Given the description of an element on the screen output the (x, y) to click on. 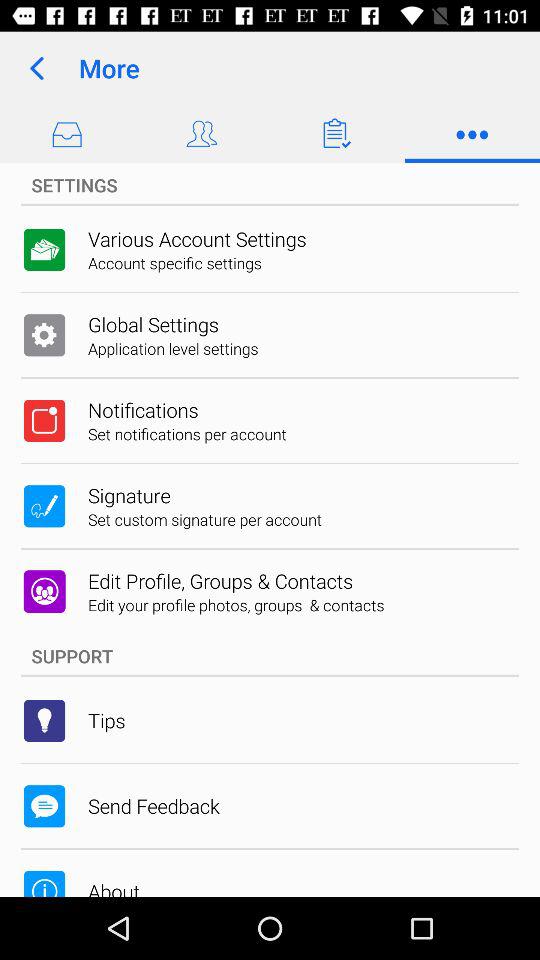
launch the icon to the left of the more app (36, 68)
